Given the description of an element on the screen output the (x, y) to click on. 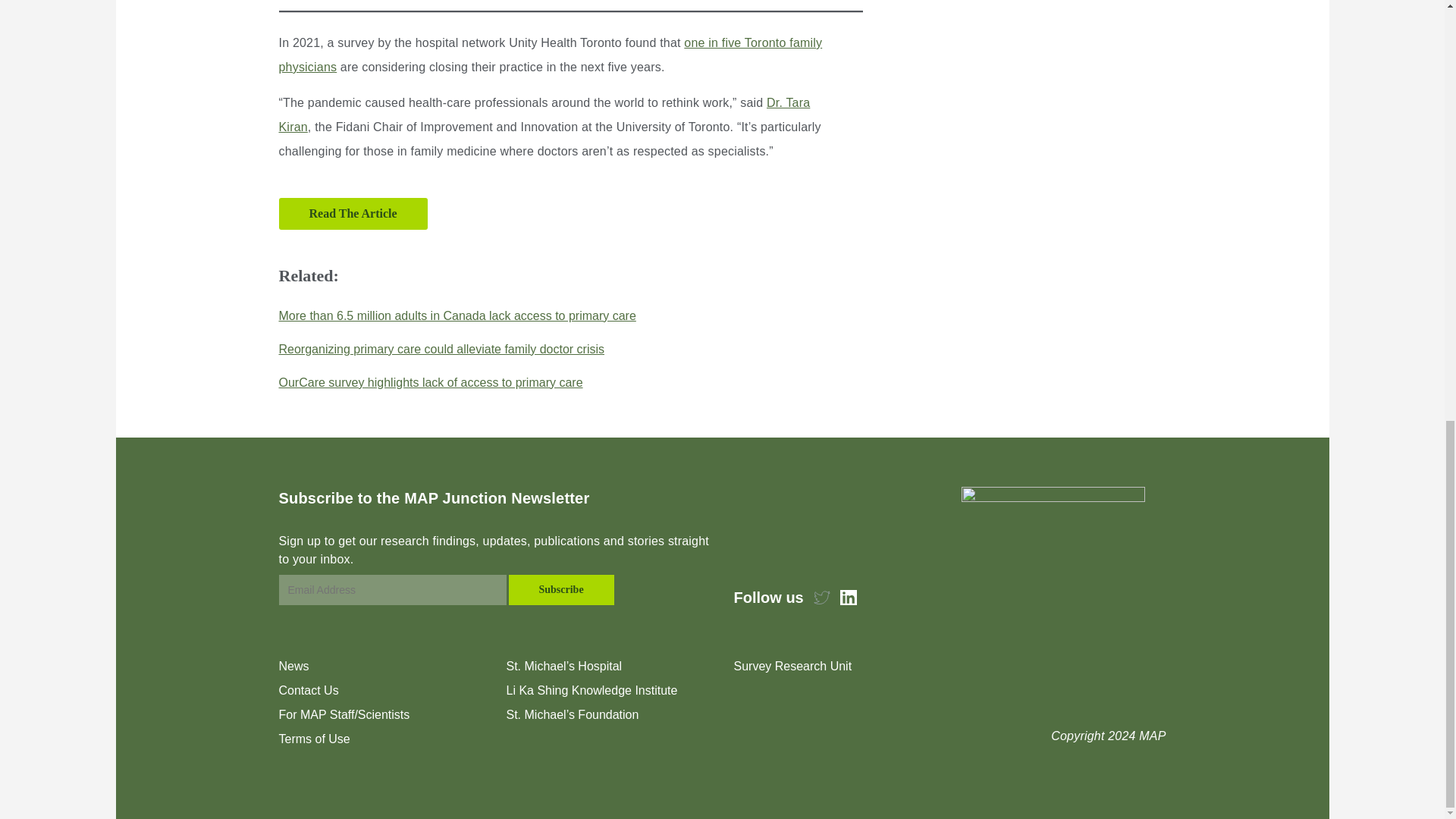
one in five Toronto family physicians (550, 54)
Dr. Tara Kiran (544, 114)
Read The Article (353, 214)
